Given the description of an element on the screen output the (x, y) to click on. 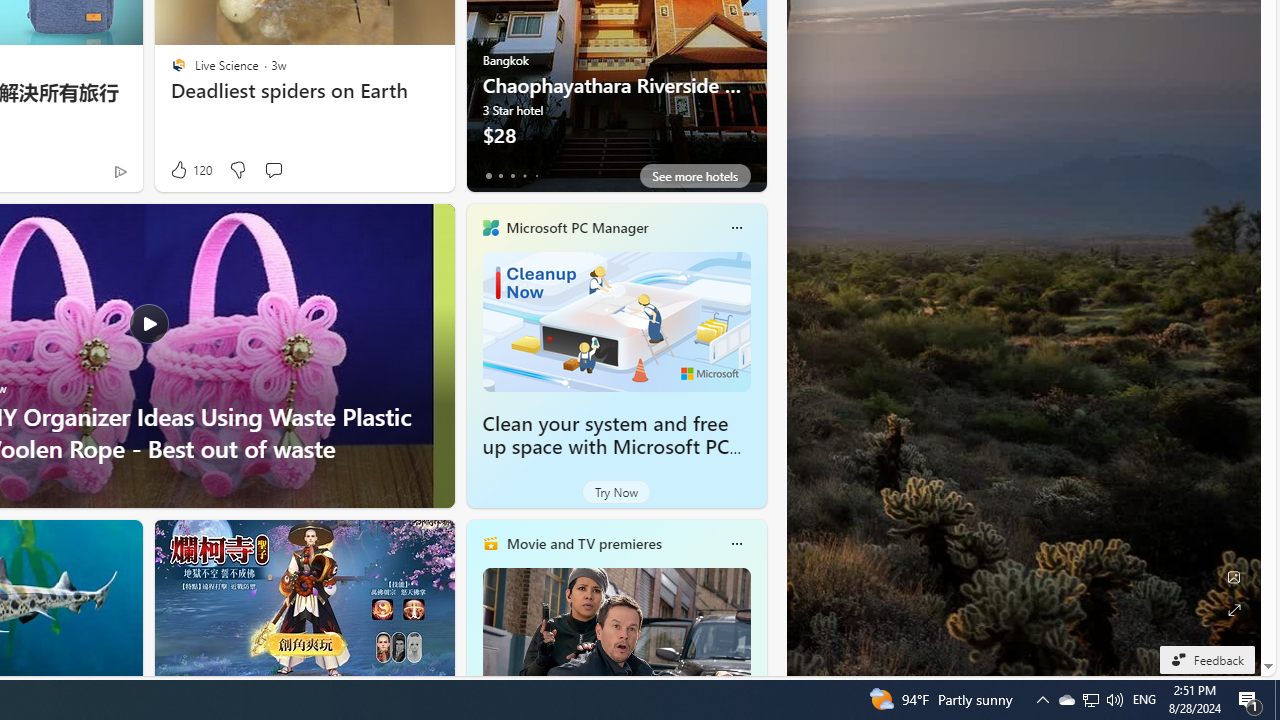
Class: icon-img (736, 543)
tab-2 (511, 175)
Microsoft PC Manager (576, 227)
Expand background (1233, 610)
Movie and TV premieres (583, 543)
tab-0 (488, 175)
tab-3 (524, 175)
tab-4 (535, 175)
